Given the description of an element on the screen output the (x, y) to click on. 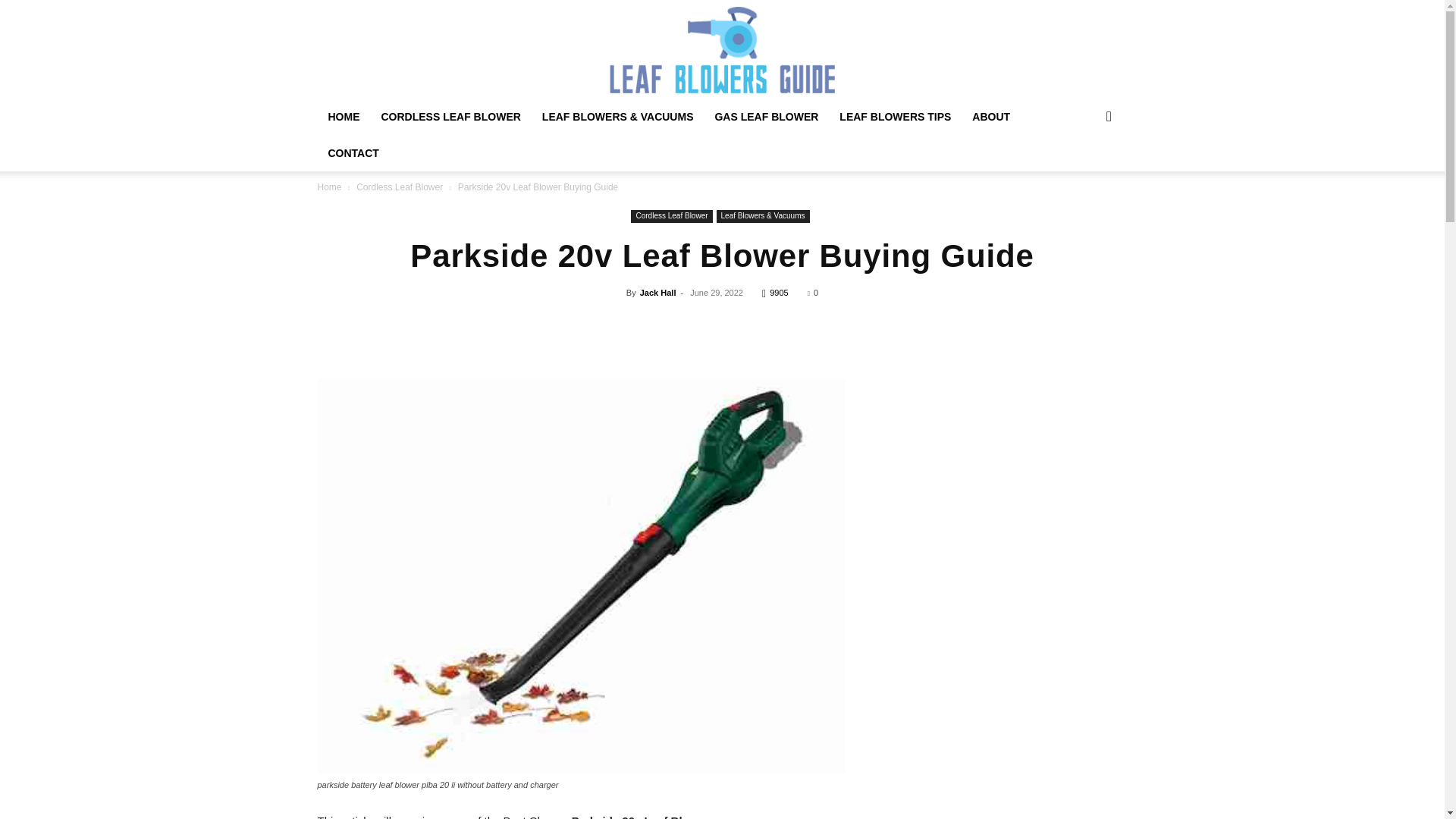
Home (328, 186)
Search (1085, 177)
CORDLESS LEAF BLOWER (450, 116)
HOME (343, 116)
Most Powerful leaf Blower on the Market in 2023 (721, 49)
ABOUT (990, 116)
CONTACT (352, 153)
Cordless Leaf Blower (670, 215)
LEAF BLOWERS TIPS (894, 116)
Jack Hall (658, 292)
Best Leaf Blower Reviews 2024 by Experts (721, 49)
GAS LEAF BLOWER (765, 116)
Cordless Leaf Blower (399, 186)
0 (813, 292)
View all posts in Cordless Leaf Blower (399, 186)
